Given the description of an element on the screen output the (x, y) to click on. 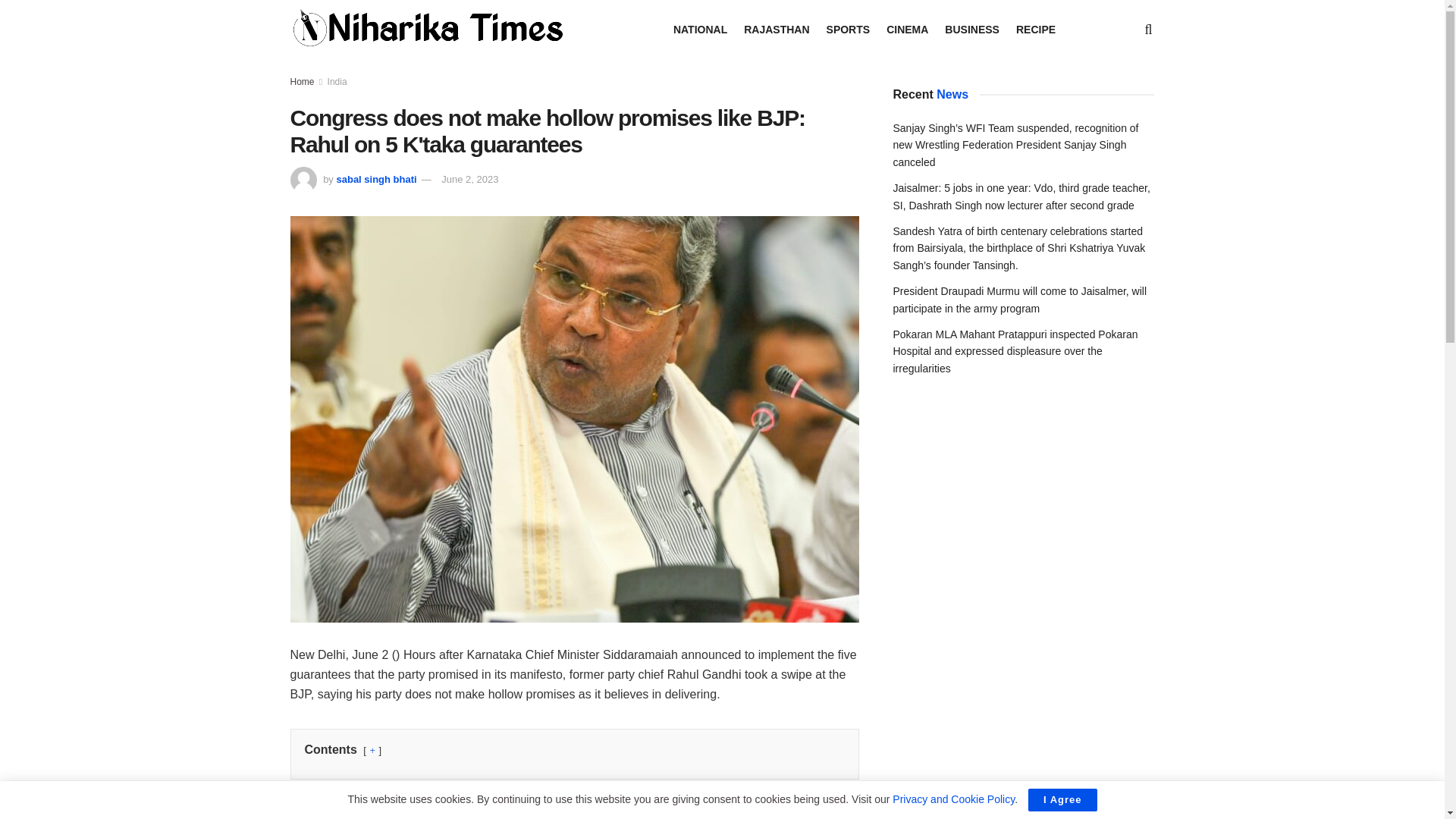
Advertisement (574, 811)
BUSINESS (971, 28)
RECIPE (1035, 28)
Home (301, 81)
June 2, 2023 (469, 179)
NATIONAL (699, 28)
SPORTS (848, 28)
RAJASTHAN (776, 28)
India (337, 81)
CINEMA (907, 28)
sabal singh bhati (376, 179)
